Given the description of an element on the screen output the (x, y) to click on. 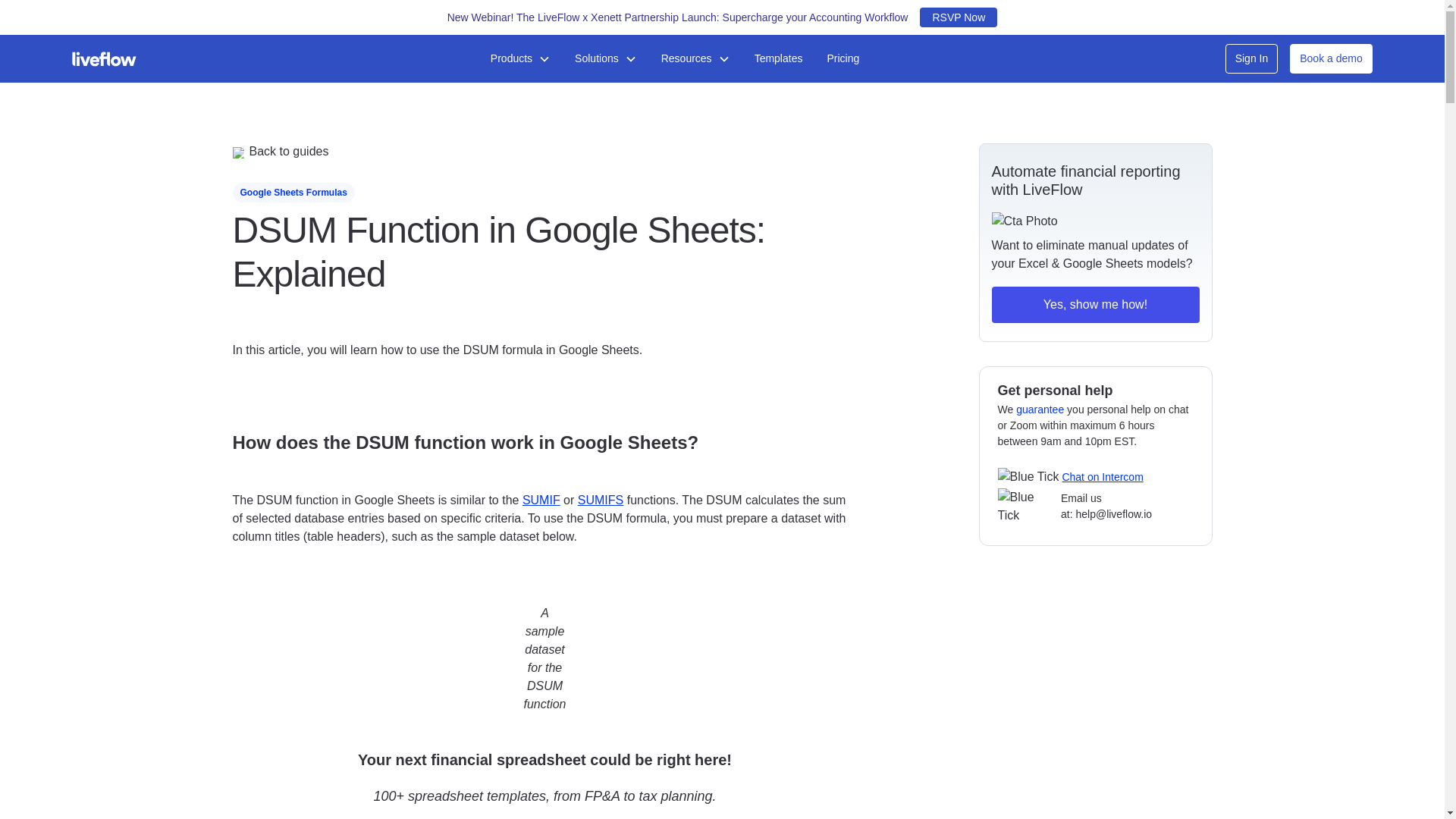
Back to guides (544, 151)
Sign In (1251, 58)
SUMIFS (600, 499)
Book a demo (1331, 58)
Templates (778, 58)
Chat on Intercom (1101, 476)
SUMIF (541, 499)
RSVP Now (958, 17)
Pricing (841, 58)
Yes, show me how! (1095, 304)
